Given the description of an element on the screen output the (x, y) to click on. 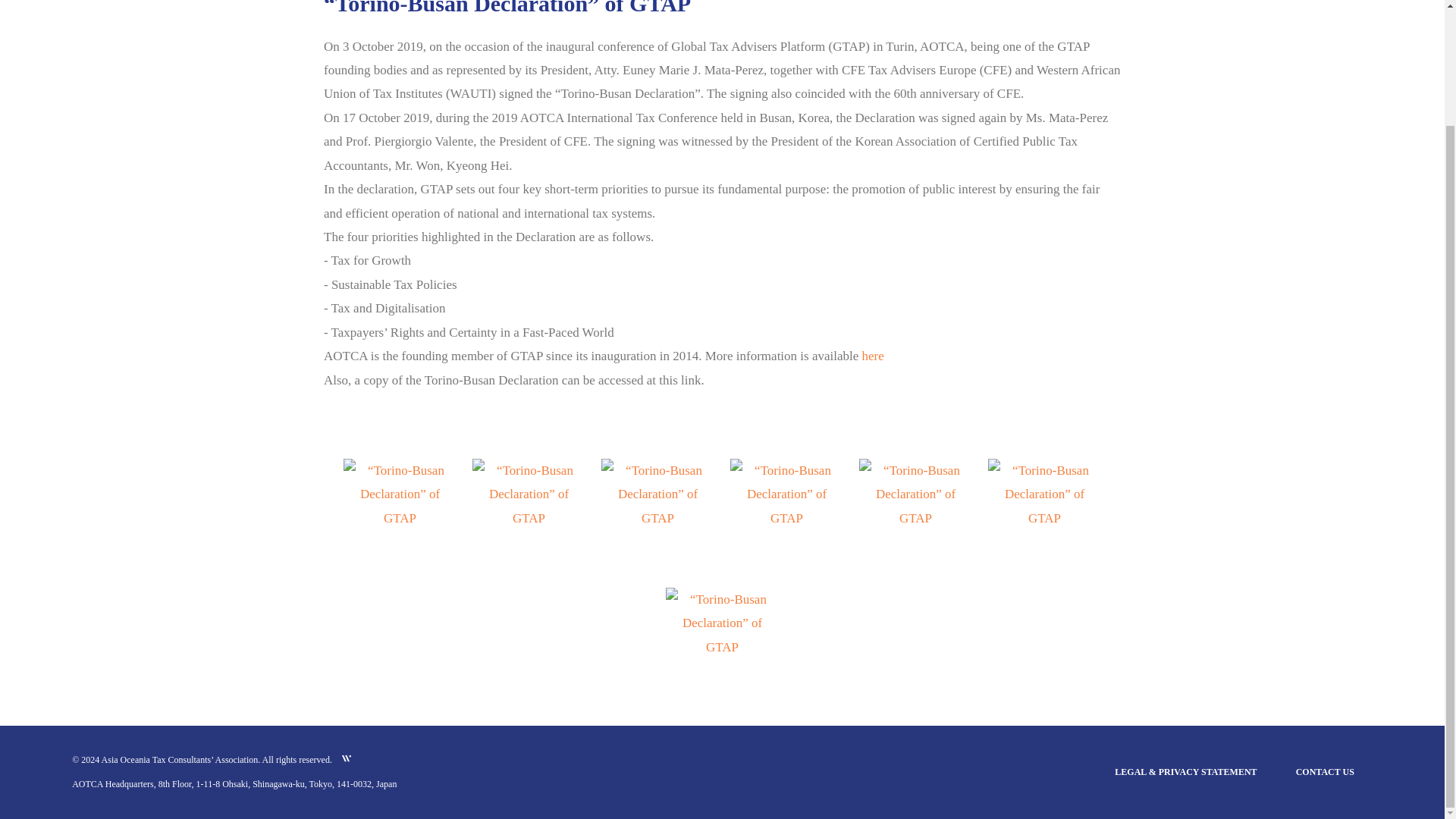
gtapnews-6 (528, 518)
gtapnews-3 (915, 518)
gtapnews-7 (399, 518)
gtapnews-4 (786, 518)
gtapnews-5 (656, 518)
gtapnews-1 (721, 646)
CONTACT US (1324, 771)
gtapnews-2 (1043, 518)
here (872, 355)
